Given the description of an element on the screen output the (x, y) to click on. 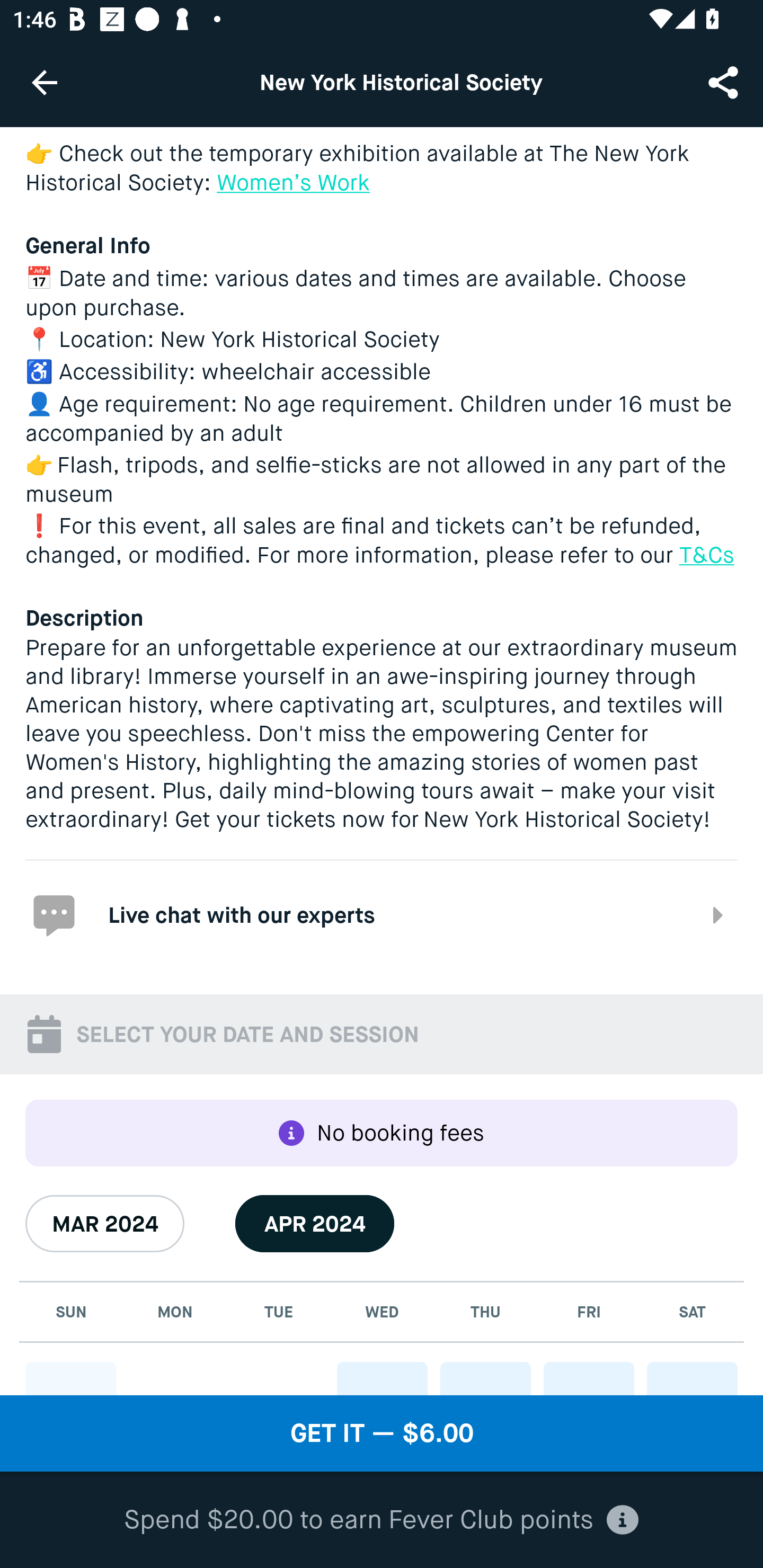
Navigate up (44, 82)
Share (724, 81)
Live chat with our experts (381, 914)
MAR 2024 (104, 1223)
APR 2024 (314, 1223)
GET IT — $6.00 (381, 1433)
Spend $20.00 to earn Fever Club points (381, 1519)
